Given the description of an element on the screen output the (x, y) to click on. 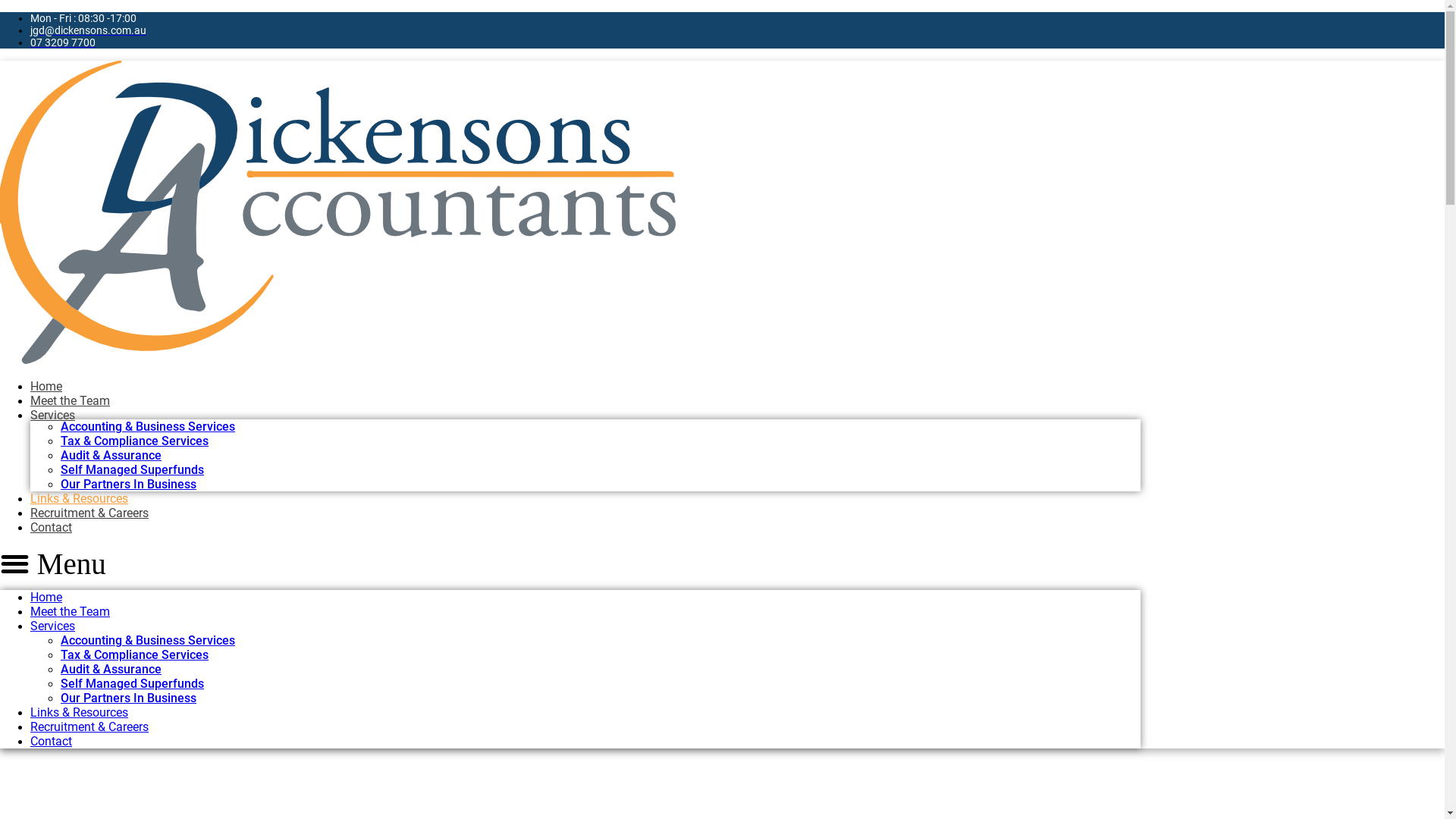
Accounting & Business Services Element type: text (147, 426)
Links & Resources Element type: text (79, 712)
Services Element type: text (52, 625)
Recruitment & Careers Element type: text (89, 726)
Contact Element type: text (51, 527)
Links & Resources Element type: text (79, 498)
Contact Element type: text (51, 741)
Accounting & Business Services Element type: text (147, 640)
Audit & Assurance Element type: text (110, 455)
07 3209 7700 Element type: text (62, 42)
jgd@dickensons.com.au Element type: text (88, 30)
Self Managed Superfunds Element type: text (131, 469)
Home Element type: text (46, 386)
Our Partners In Business Element type: text (128, 483)
Home Element type: text (46, 596)
Services Element type: text (52, 414)
Recruitment & Careers Element type: text (89, 512)
Audit & Assurance Element type: text (110, 669)
Tax & Compliance Services Element type: text (134, 440)
Self Managed Superfunds Element type: text (131, 683)
Meet the Team Element type: text (69, 400)
Tax & Compliance Services Element type: text (134, 654)
Our Partners In Business Element type: text (128, 697)
Meet the Team Element type: text (69, 611)
